Given the description of an element on the screen output the (x, y) to click on. 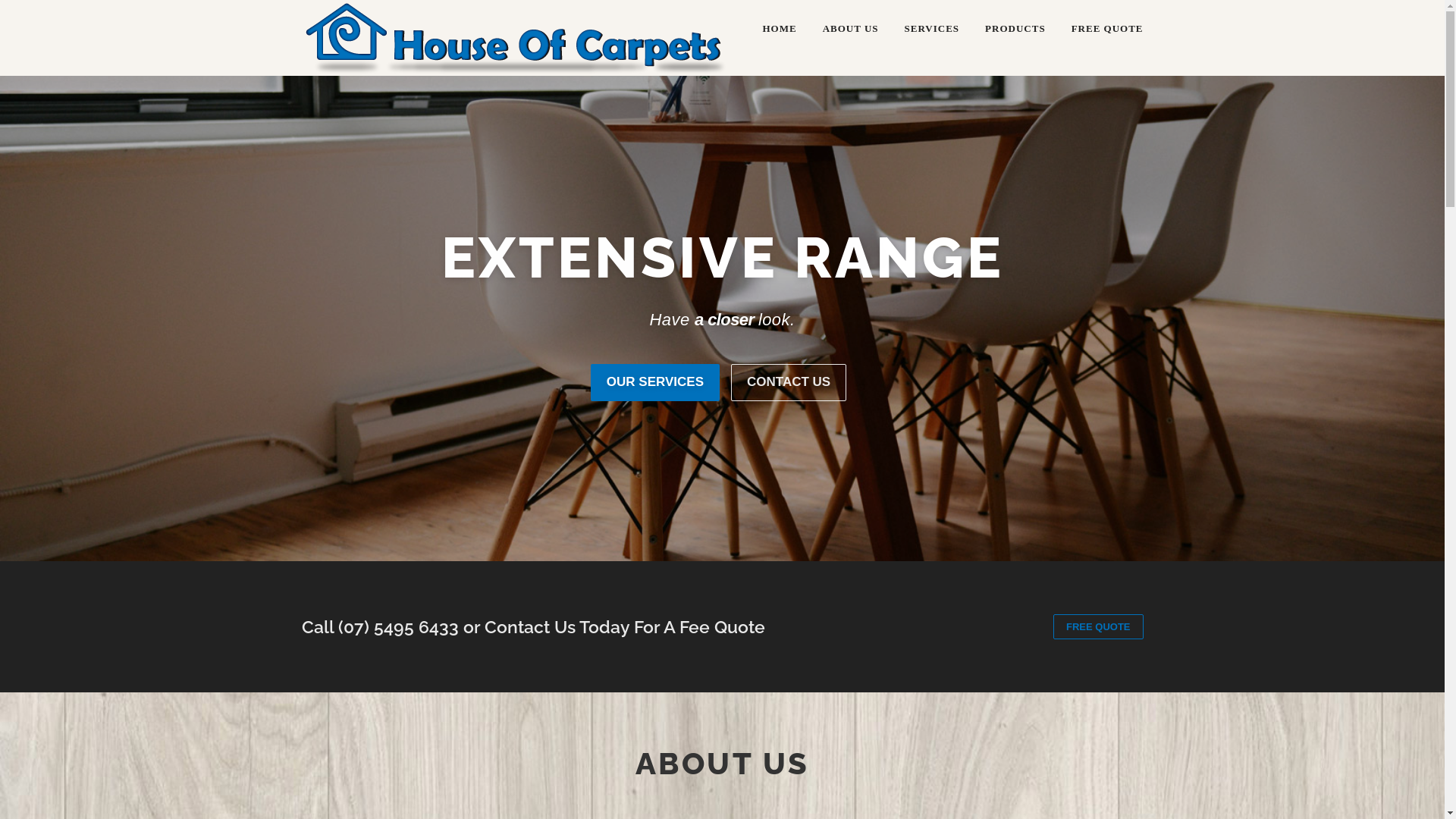
SERVICES Element type: text (931, 28)
PRODUCTS Element type: text (1015, 28)
HOME Element type: text (779, 28)
FREE QUOTE Element type: text (1098, 627)
ABOUT US Element type: text (850, 28)
FREE QUOTE Element type: text (1100, 28)
OUR SERVICES Element type: text (654, 382)
CONTACT US Element type: text (788, 382)
